Given the description of an element on the screen output the (x, y) to click on. 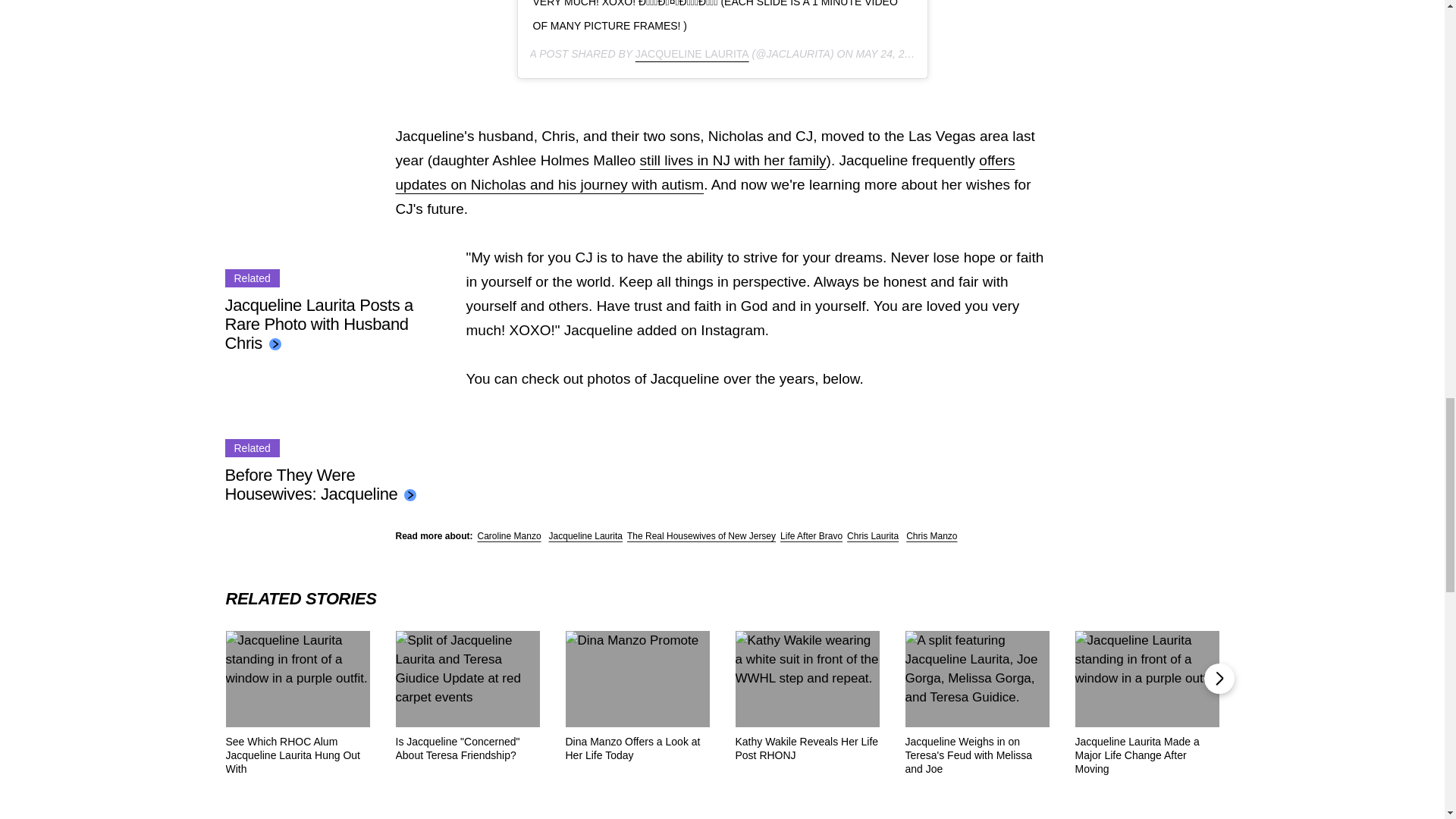
still lives in NJ with her family (733, 160)
JACQUELINE LAURITA (691, 53)
offers updates on Nicholas and his journey with autism (705, 172)
